Given the description of an element on the screen output the (x, y) to click on. 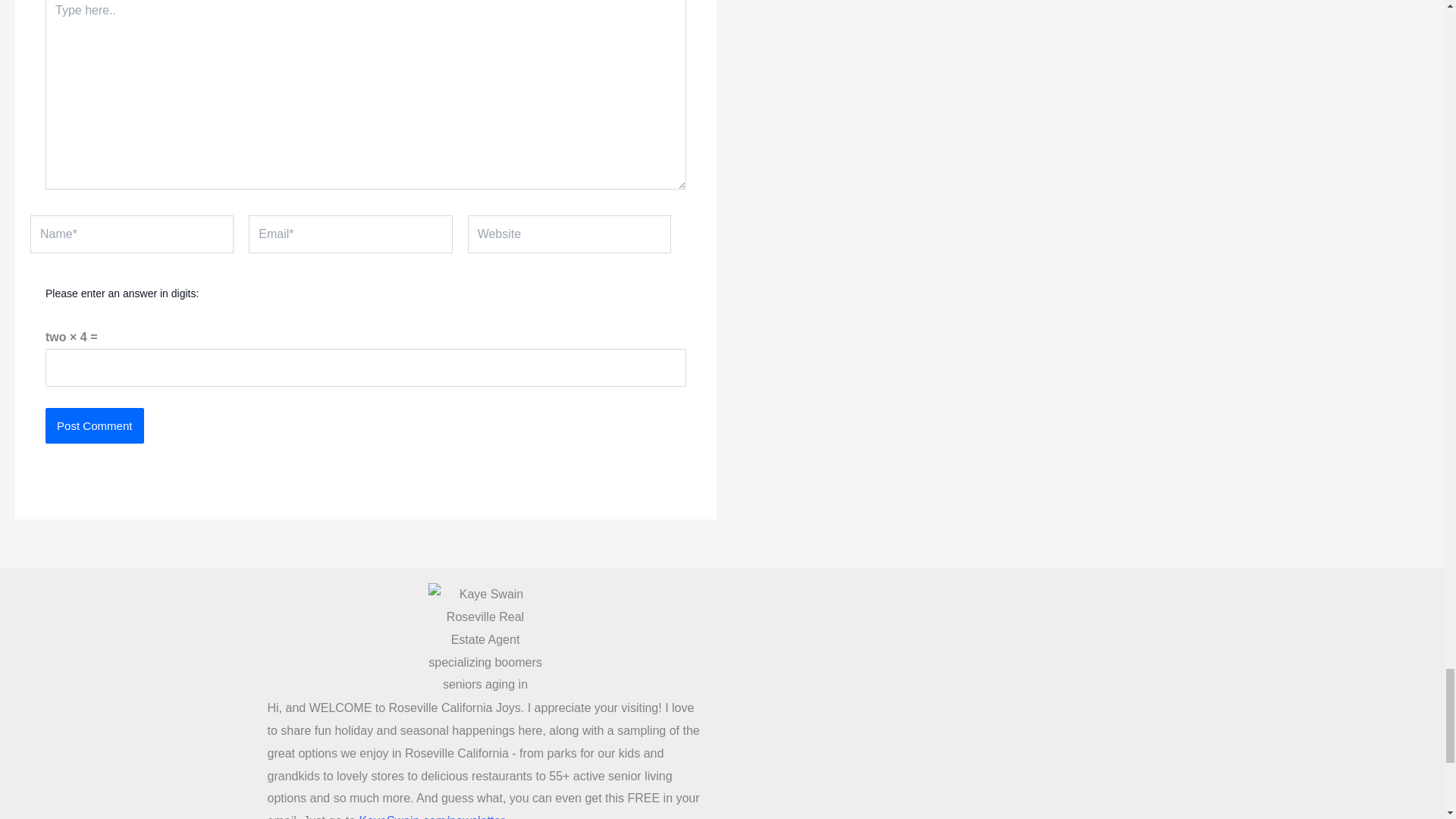
Post Comment (94, 425)
